Given the description of an element on the screen output the (x, y) to click on. 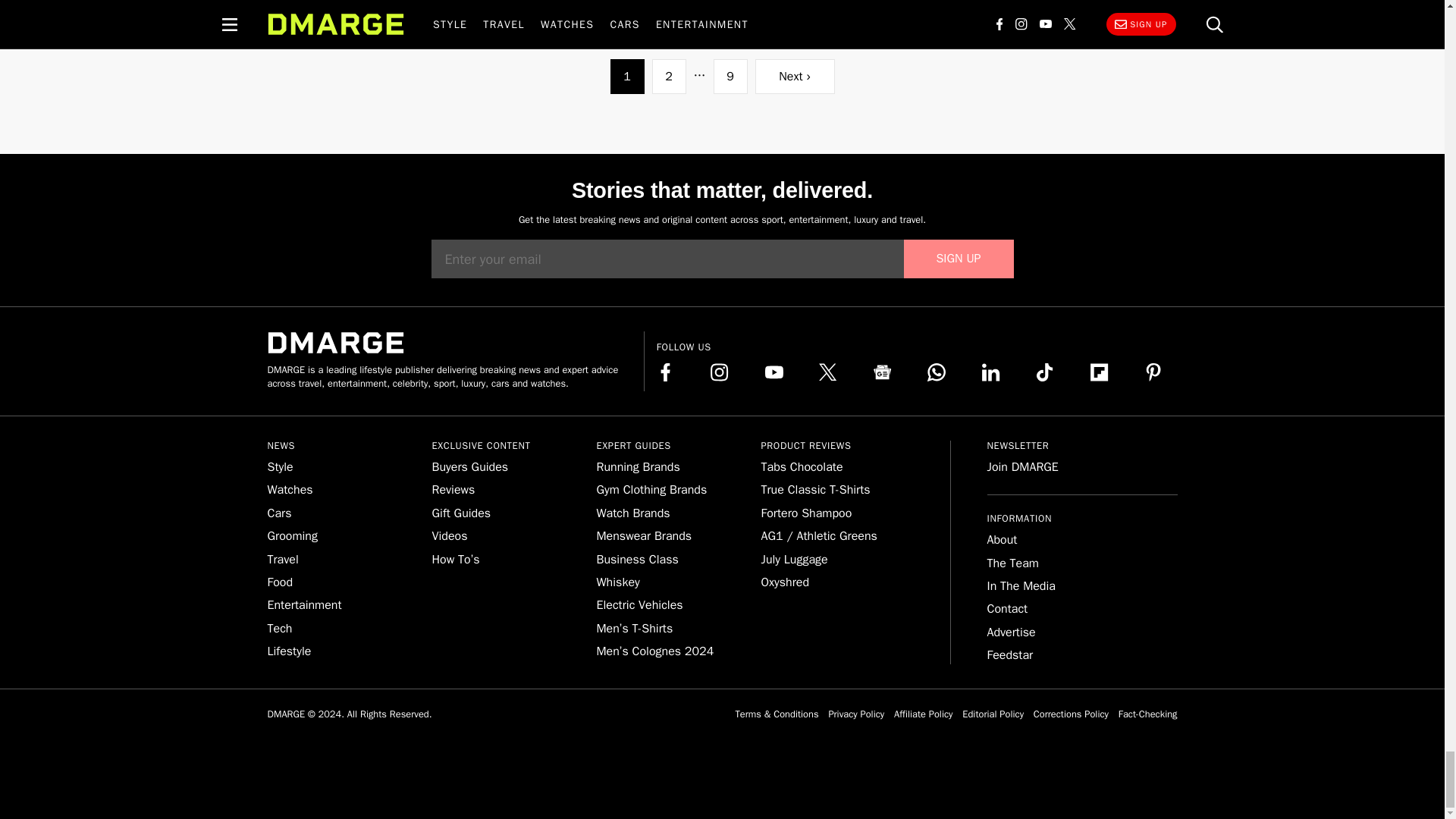
Visit us on Twitter (827, 372)
Visit us on Google News (882, 372)
Visit us on TickTok (1044, 372)
Visit us on Pinterest (1152, 372)
Visit us on LinkedIn (990, 372)
Visit us on Flipboard (1099, 372)
Visit us on WhatsApp (935, 372)
Visit us on Instagram (719, 372)
Visit us on YouTube (774, 372)
Visit us on Facebook (665, 372)
